Given the description of an element on the screen output the (x, y) to click on. 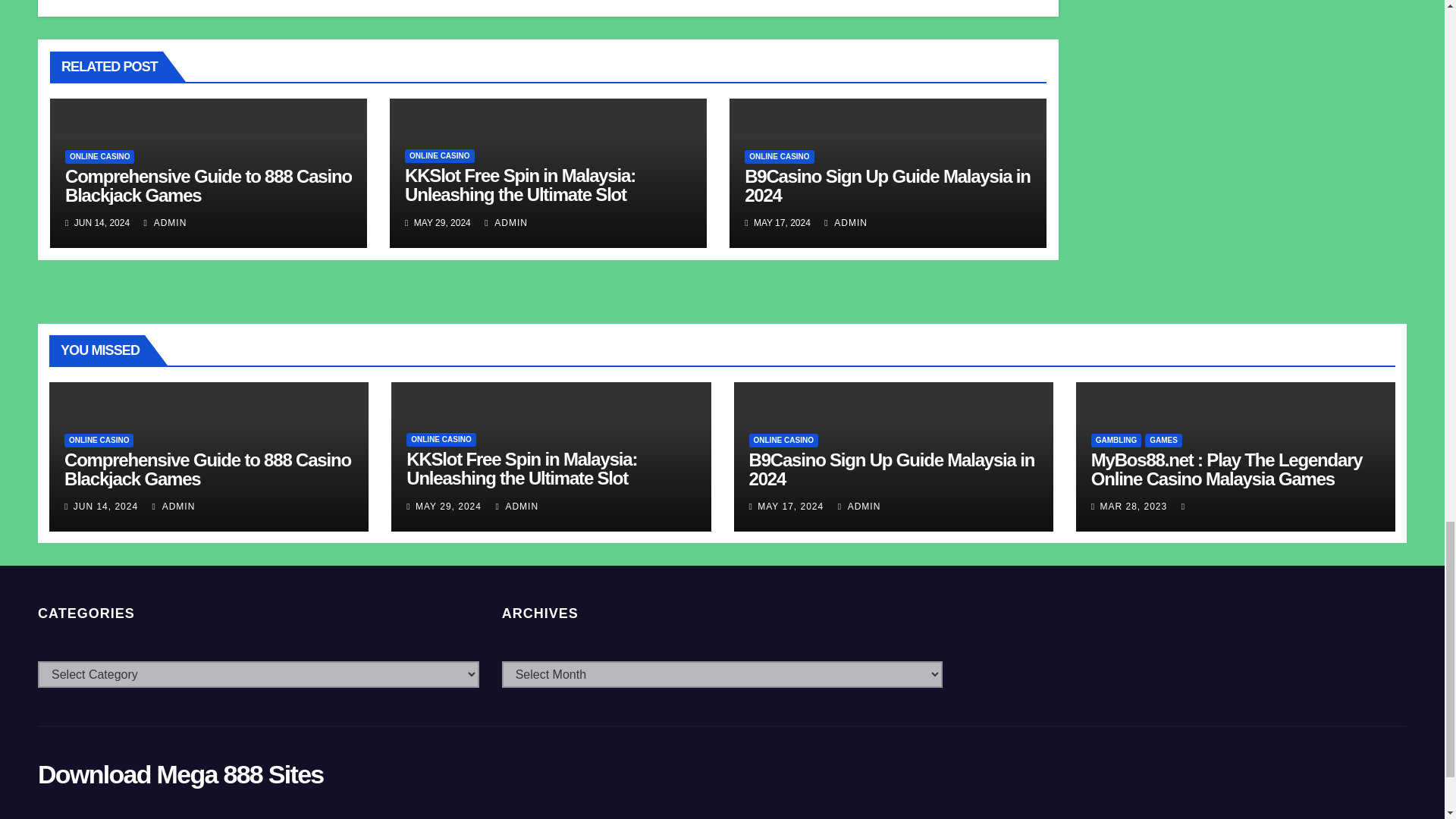
Permalink to: B9Casino Sign Up Guide Malaysia in 2024 (887, 185)
Permalink to: B9Casino Sign Up Guide Malaysia in 2024 (892, 468)
